Given the description of an element on the screen output the (x, y) to click on. 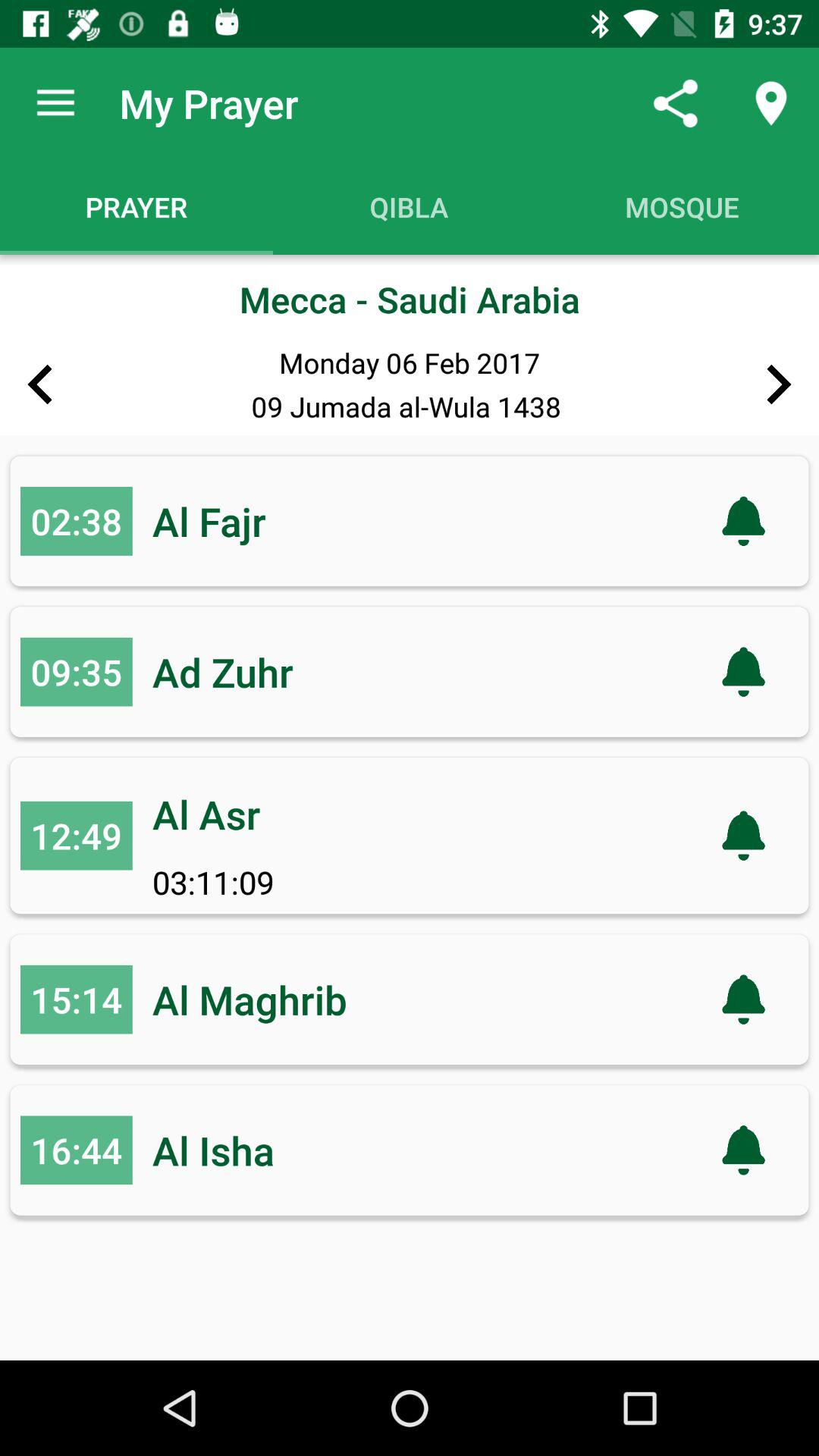
click the item next to al isha (76, 1149)
